Given the description of an element on the screen output the (x, y) to click on. 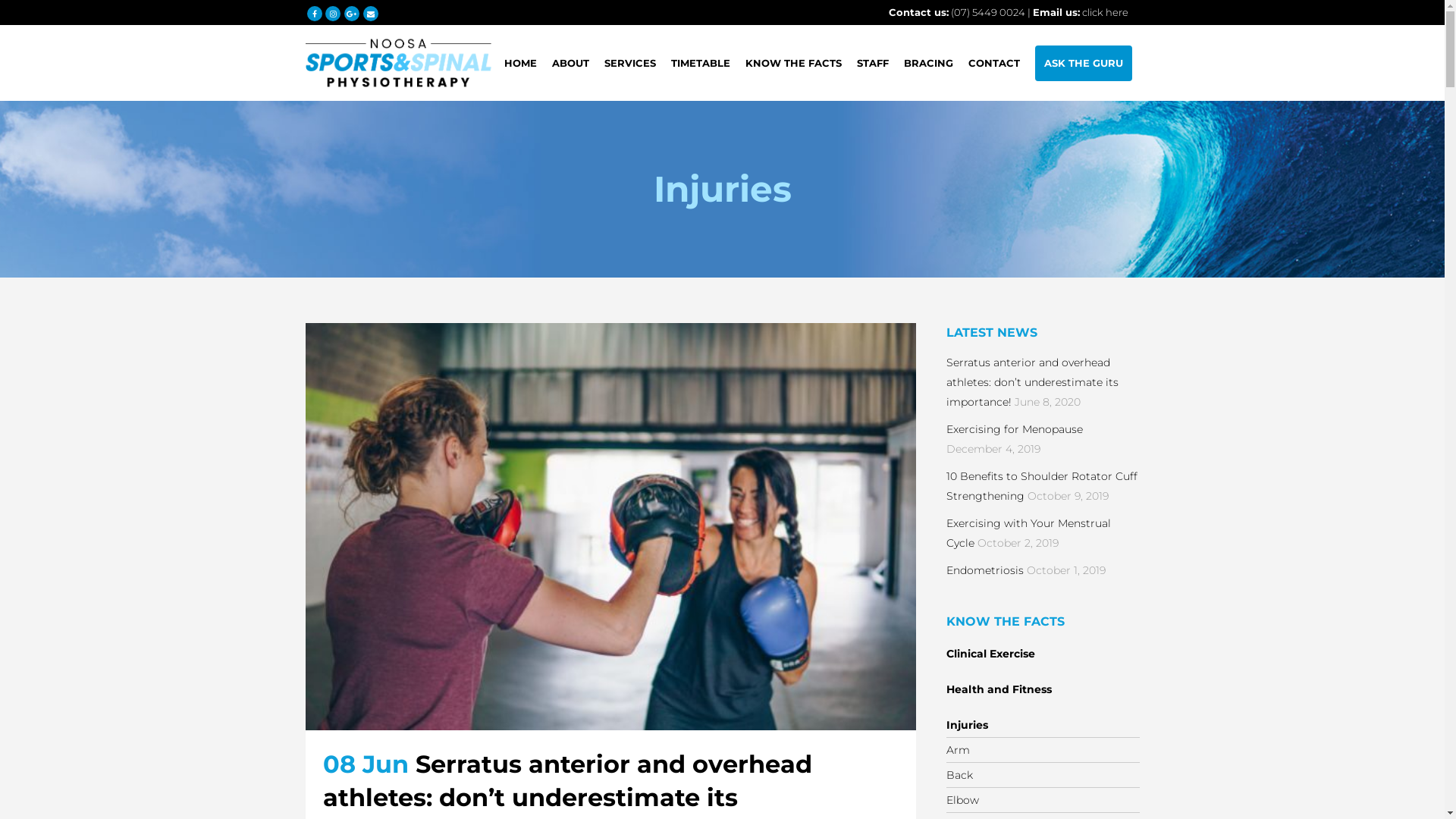
10 Benefits to Shoulder Rotator Cuff Strengthening Element type: text (1041, 485)
CONTACT Element type: text (993, 62)
Exercising with Your Menstrual Cycle Element type: text (1028, 532)
Injuries Element type: text (967, 724)
Exercising for Menopause Element type: text (1014, 429)
click here Element type: text (1104, 12)
TIMETABLE Element type: text (699, 62)
HOME Element type: text (519, 62)
Clinical Exercise Element type: text (990, 653)
(07) 5449 0024 Element type: text (987, 12)
STAFF Element type: text (872, 62)
KNOW THE FACTS Element type: text (792, 62)
SERVICES Element type: text (629, 62)
BRACING Element type: text (928, 62)
ASK THE GURU Element type: text (1082, 62)
Health and Fitness Element type: text (998, 689)
ABOUT Element type: text (570, 62)
Back Element type: text (959, 774)
Endometriosis Element type: text (984, 570)
Arm Element type: text (957, 749)
Elbow Element type: text (962, 799)
